Given the description of an element on the screen output the (x, y) to click on. 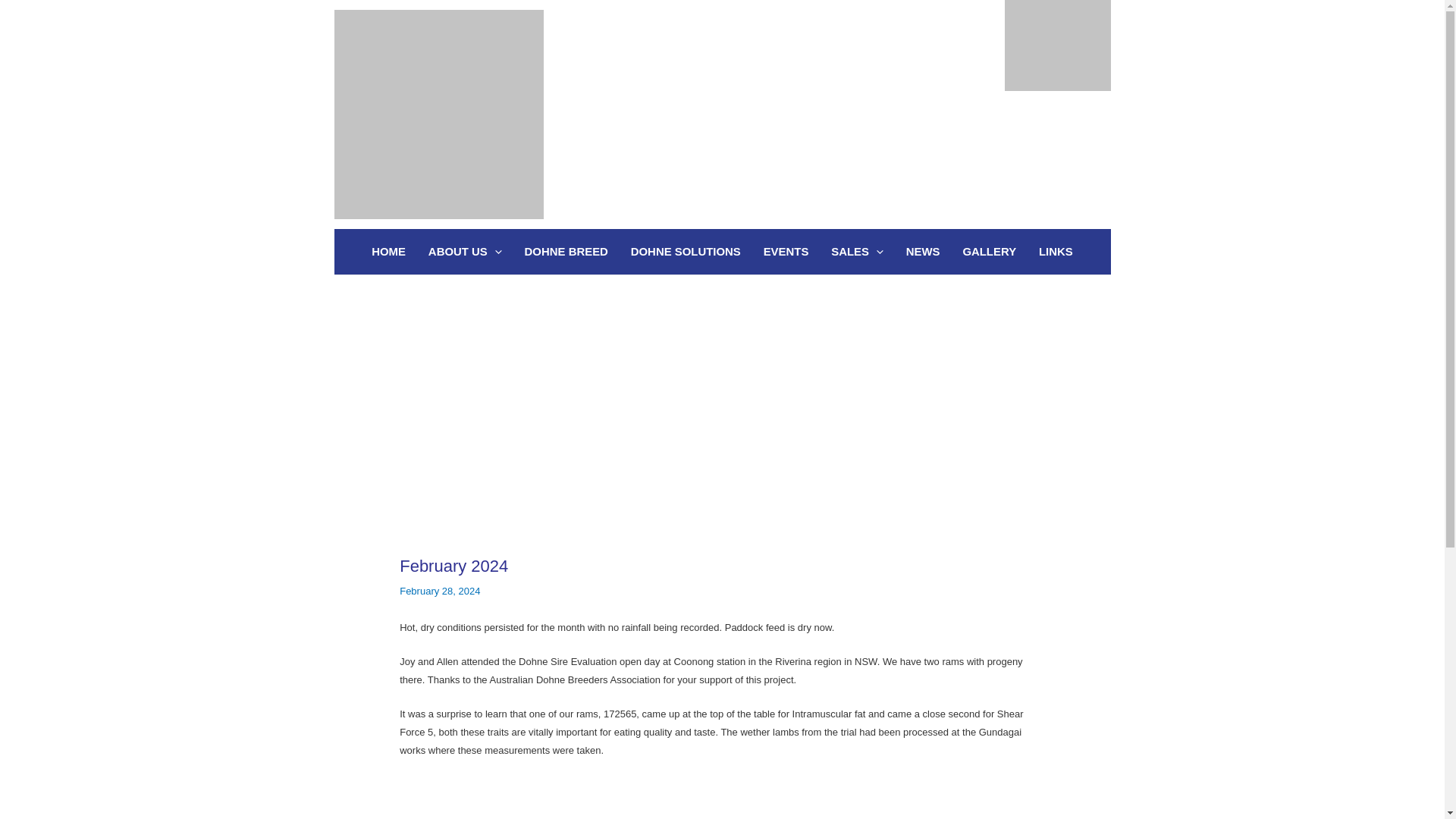
SALES (857, 251)
DOHNE BREED (566, 251)
HOME (387, 251)
DOHNE SOLUTIONS (686, 251)
ABOUT US (464, 251)
NEWS (923, 251)
LINKS (1055, 251)
EVENTS (786, 251)
GALLERY (988, 251)
